Given the description of an element on the screen output the (x, y) to click on. 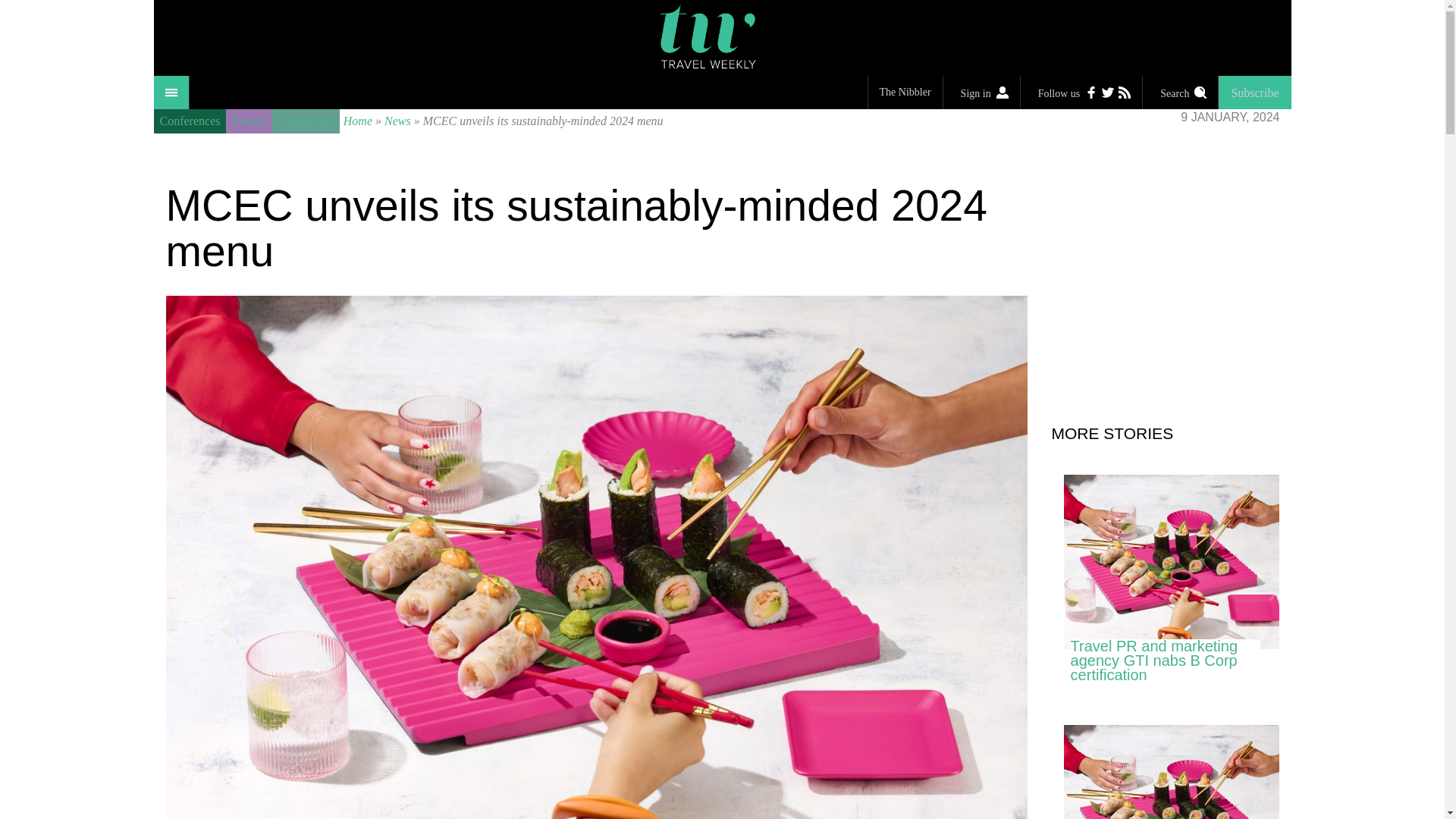
Events (247, 120)
Subscribe (1254, 92)
Search (1179, 92)
Conferences (188, 120)
Sign in (981, 92)
Exhibitions (304, 120)
The Nibbler (904, 92)
Follow us (1081, 92)
